Given the description of an element on the screen output the (x, y) to click on. 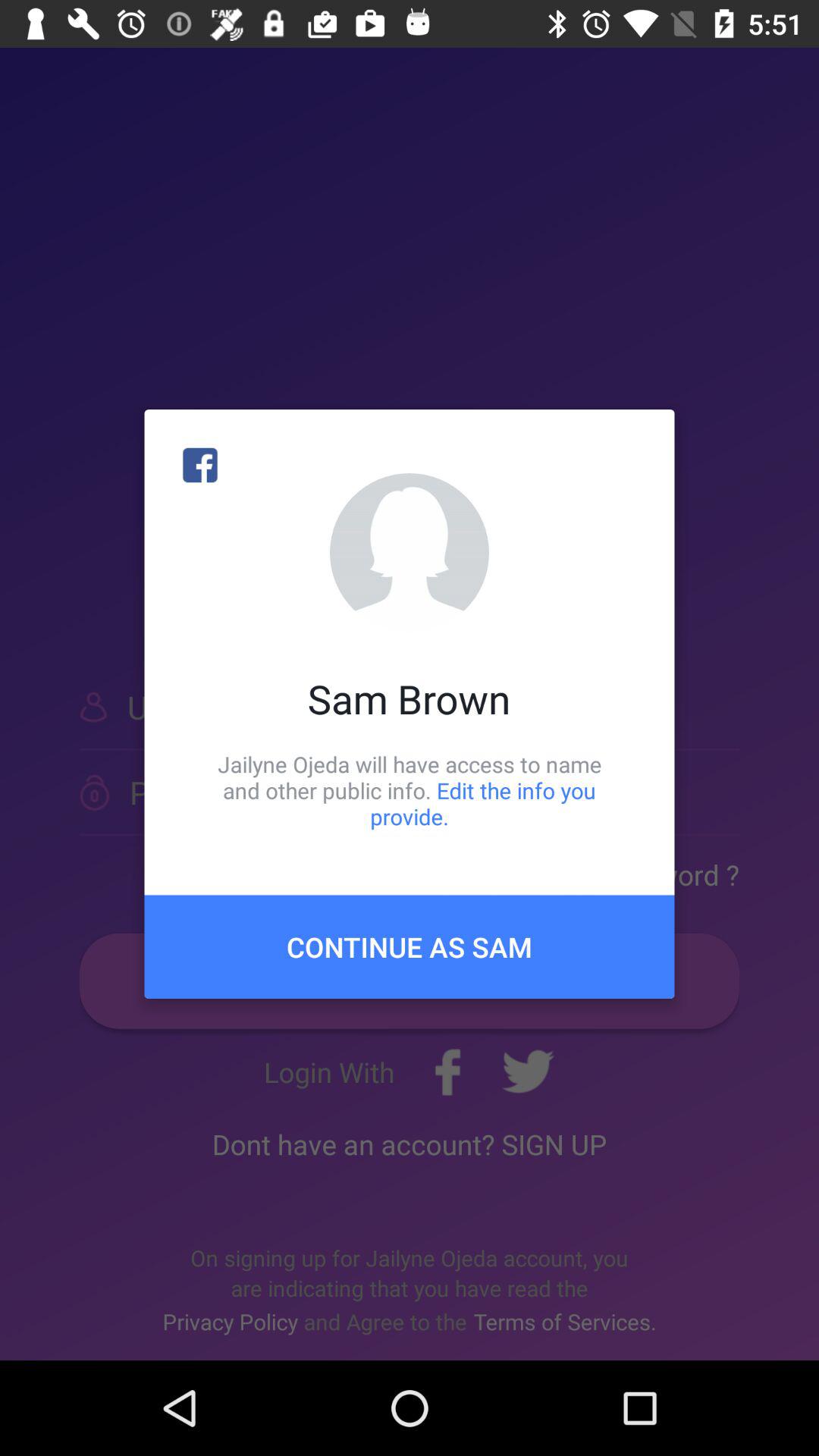
tap item below jailyne ojeda will (409, 946)
